Given the description of an element on the screen output the (x, y) to click on. 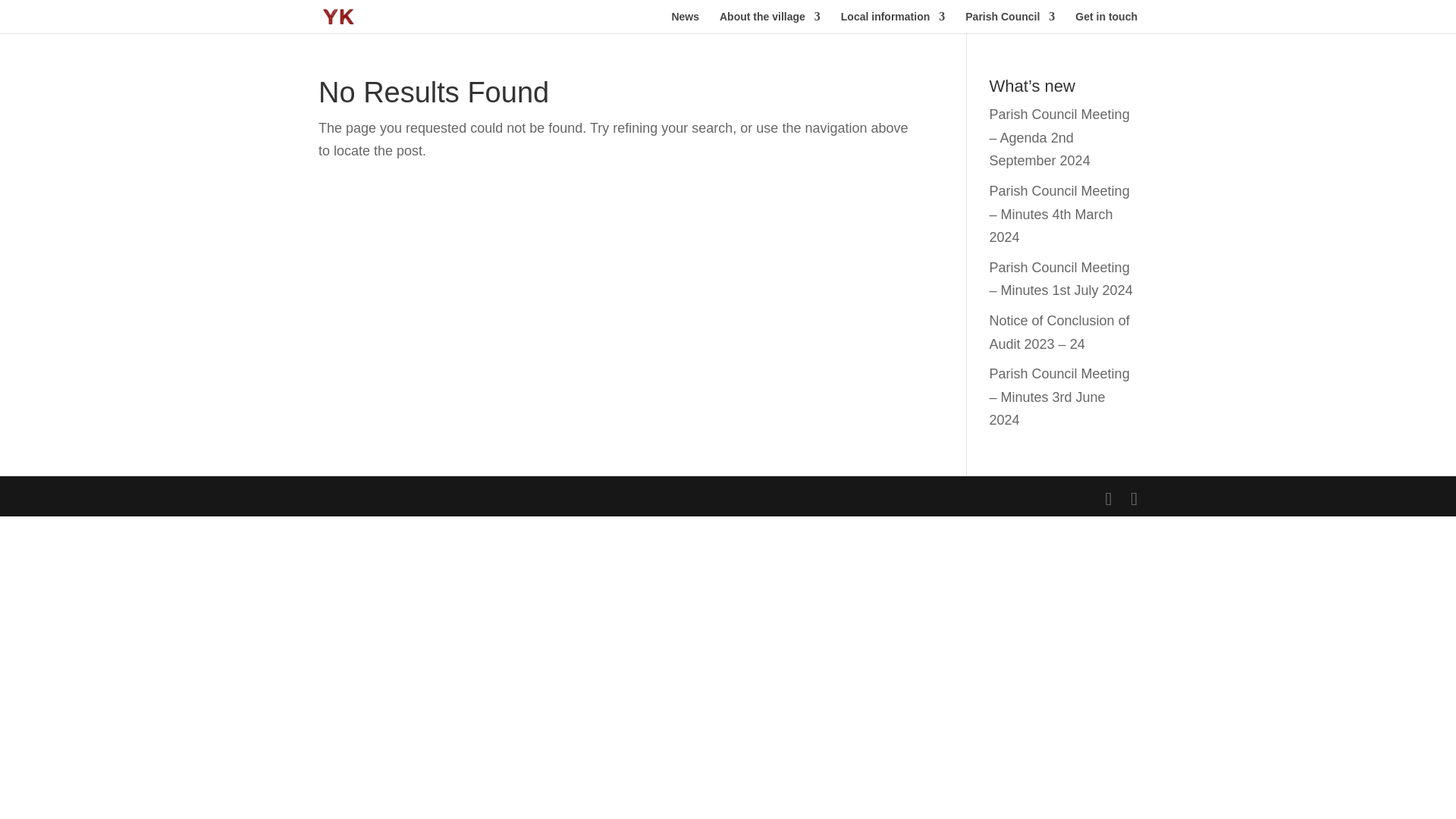
Local information (892, 22)
About the village (770, 22)
News (684, 22)
Parish Council (1009, 22)
